Given the description of an element on the screen output the (x, y) to click on. 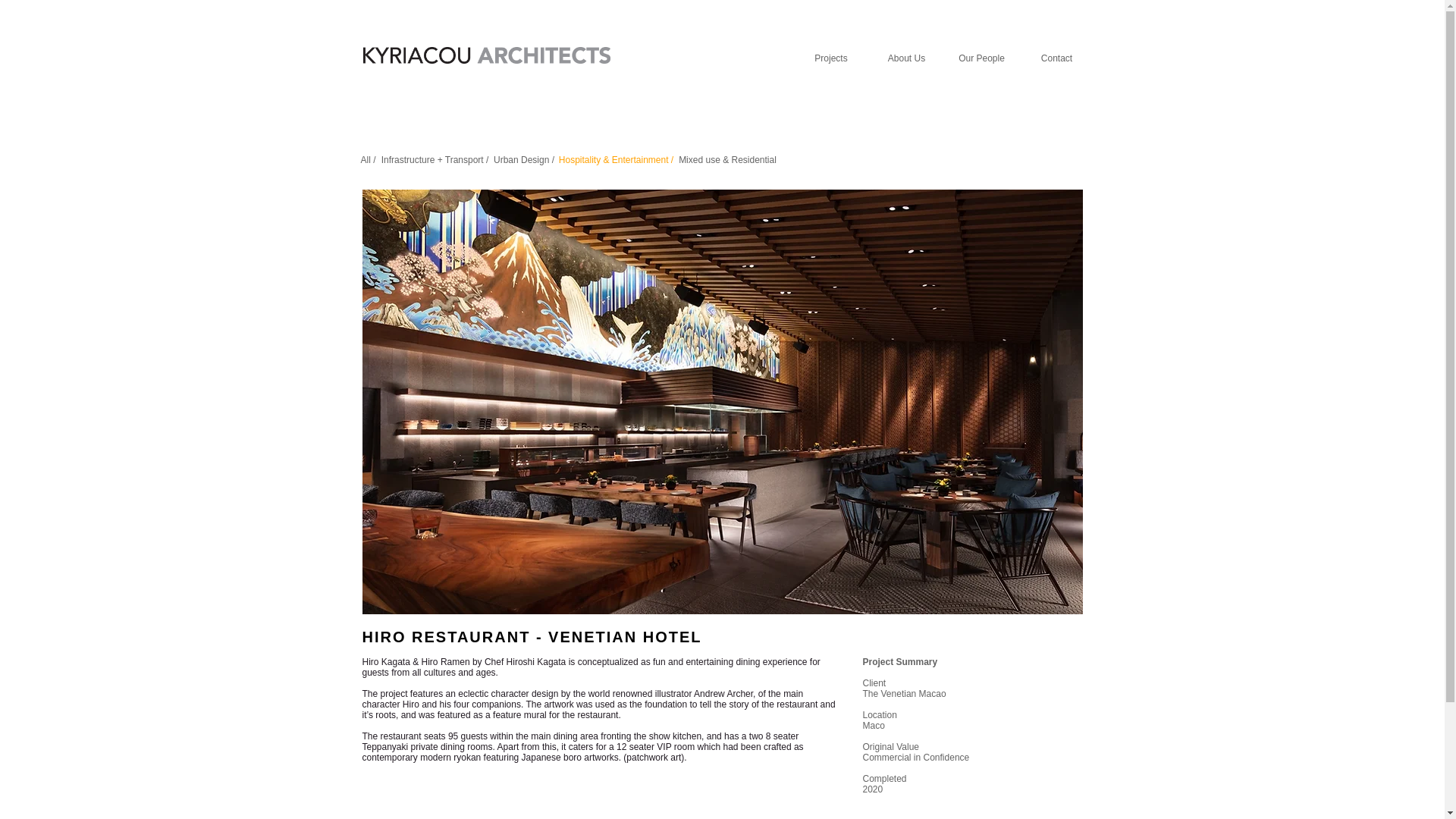
Our People (981, 58)
Contact (1056, 58)
Projects (830, 58)
